Given the description of an element on the screen output the (x, y) to click on. 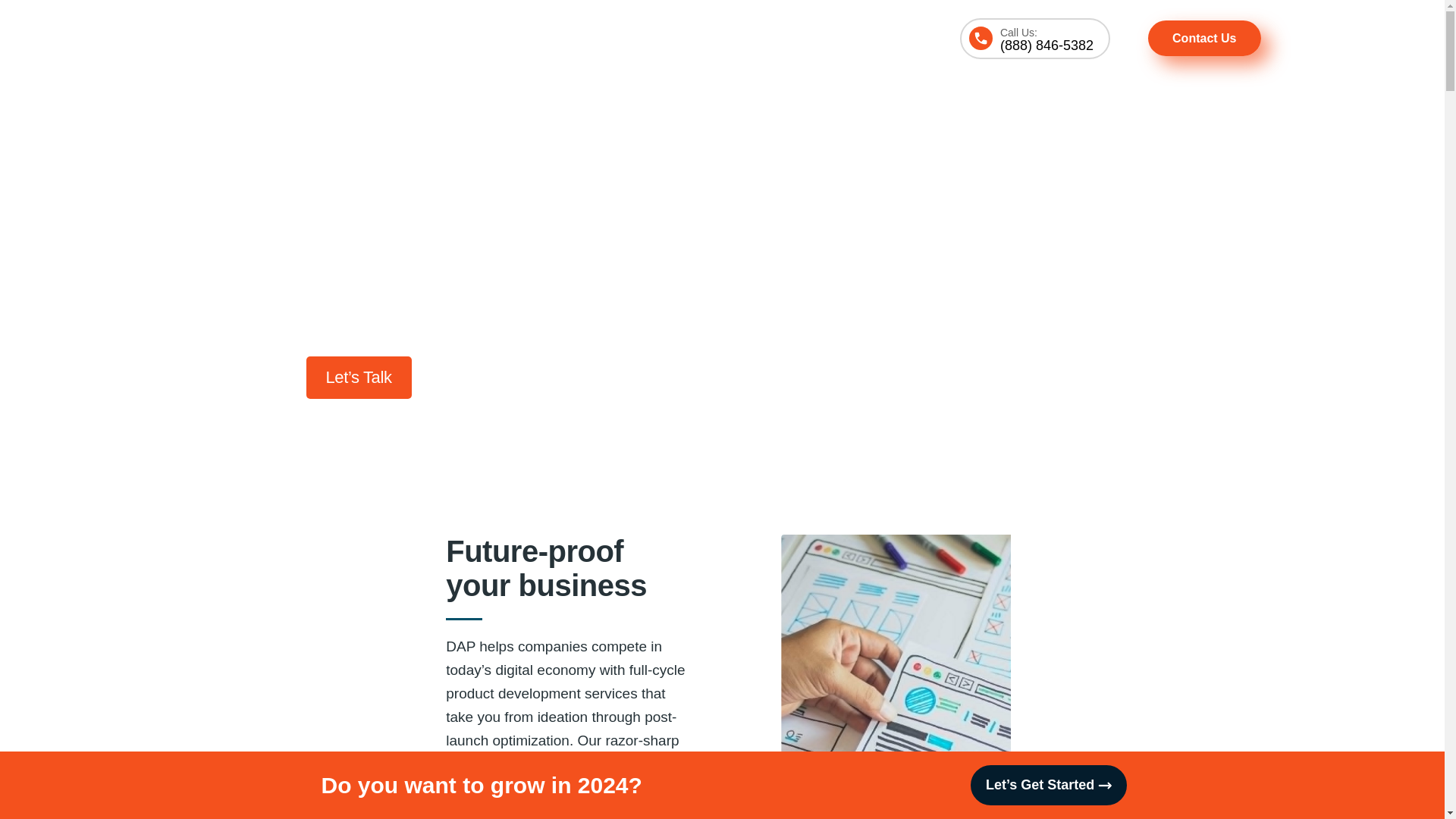
About (688, 38)
Case Studies (782, 38)
Digital Authority Partners (243, 38)
Contact Us (1204, 38)
Industries (605, 38)
Services (515, 38)
Resources (890, 38)
